Given the description of an element on the screen output the (x, y) to click on. 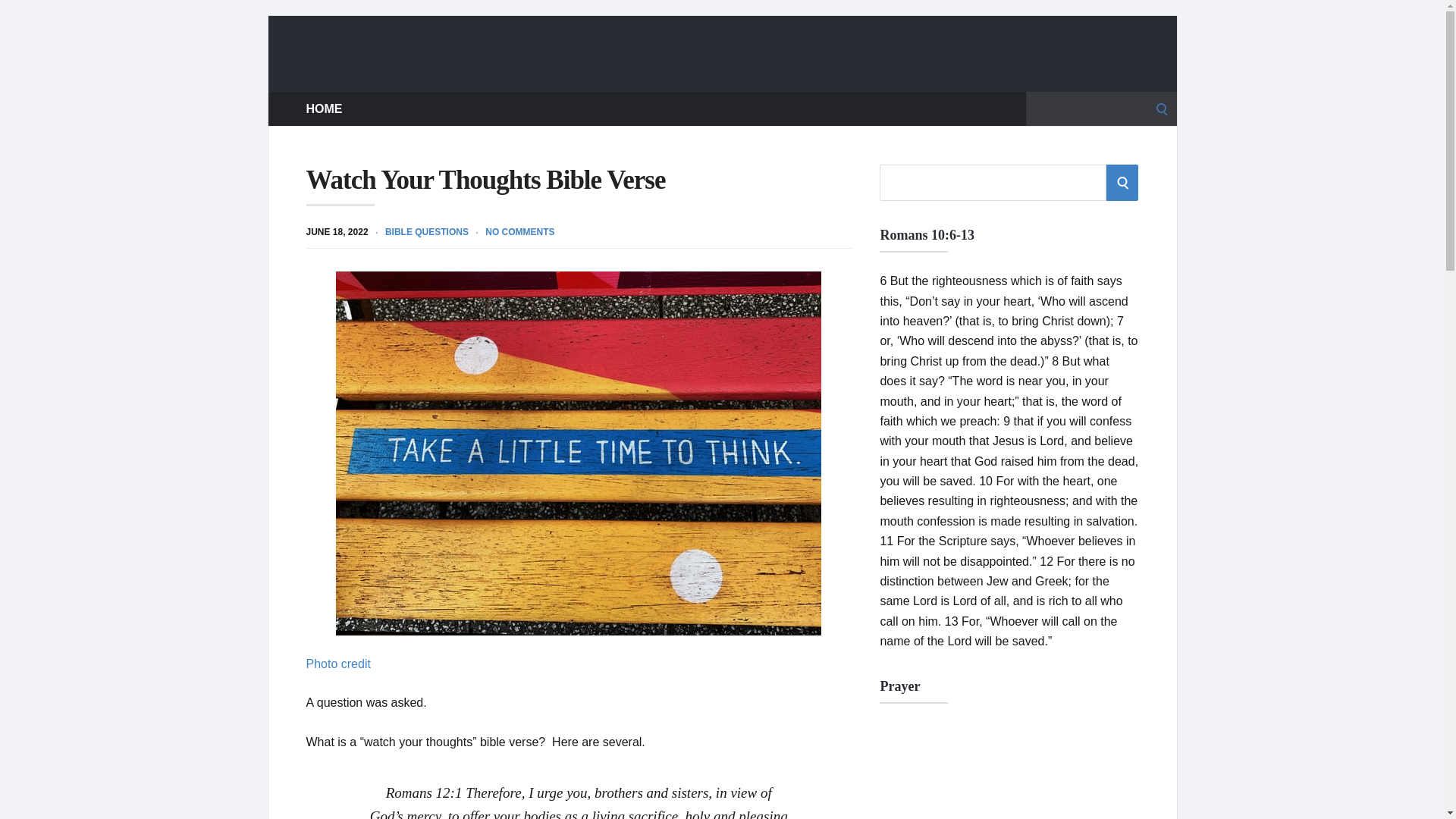
Photo credit (338, 663)
HOME (323, 108)
BibleQuestionsBlog (721, 53)
NO COMMENTS (519, 231)
BIBLE QUESTIONS (426, 231)
Search (16, 17)
YouTube video player (1008, 770)
